Given the description of an element on the screen output the (x, y) to click on. 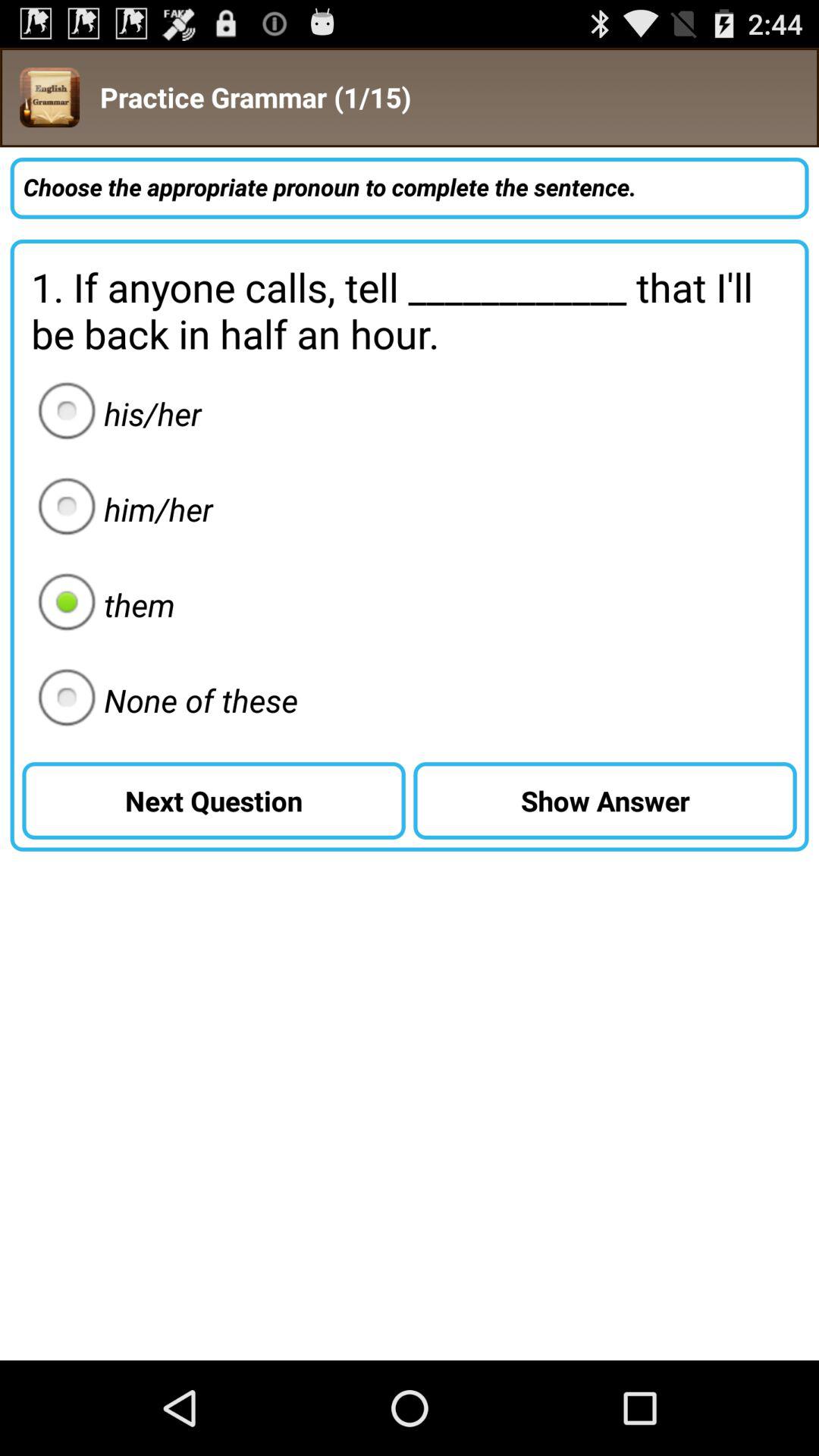
click the icon to the left of show answer button (163, 699)
